Given the description of an element on the screen output the (x, y) to click on. 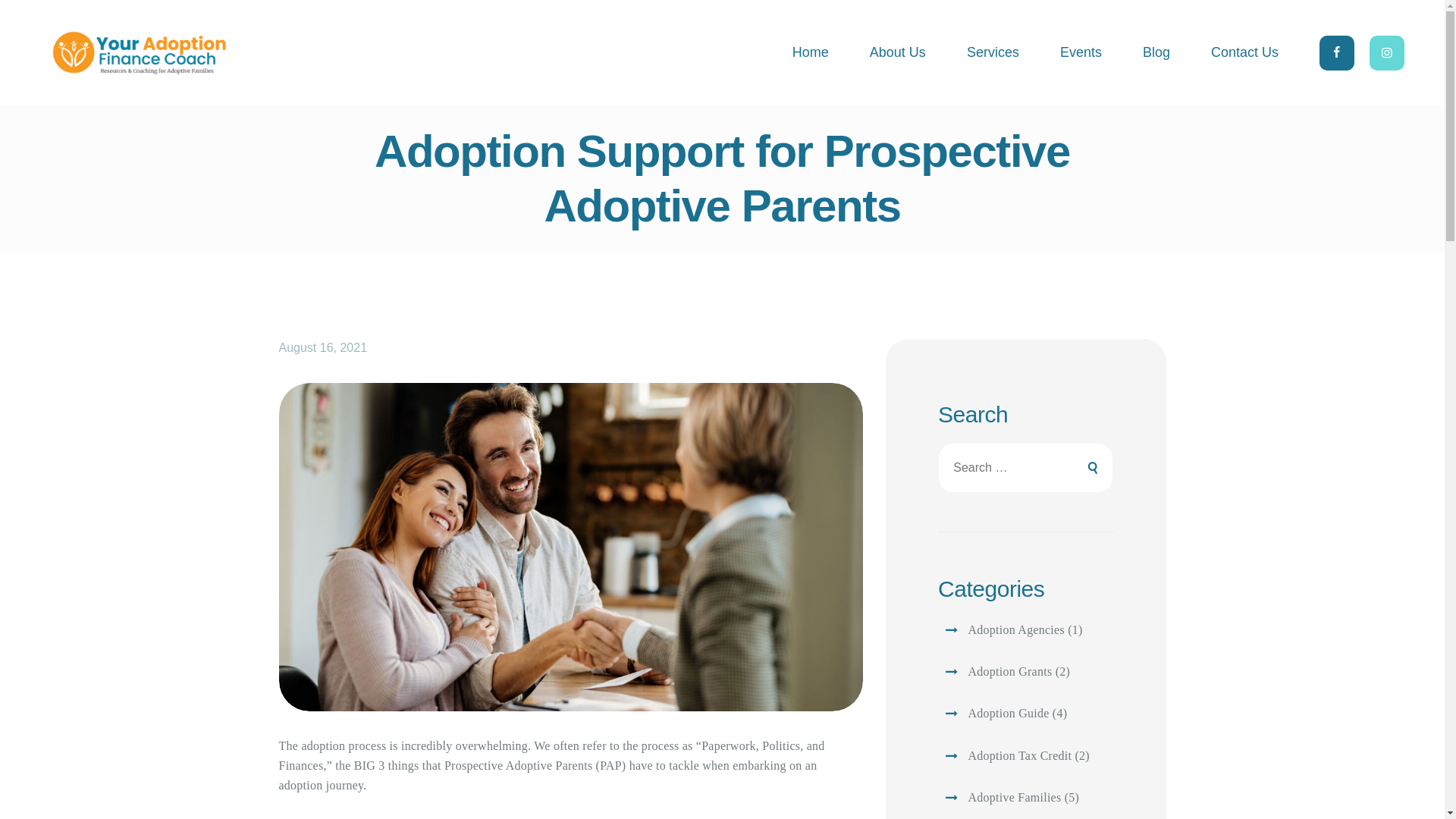
Services (992, 52)
Search (1088, 468)
August 16, 2021 (323, 347)
Blog (1156, 52)
Home (809, 52)
Contact Us (1244, 52)
Events (1080, 52)
About Us (897, 52)
Search (1088, 468)
